Given the description of an element on the screen output the (x, y) to click on. 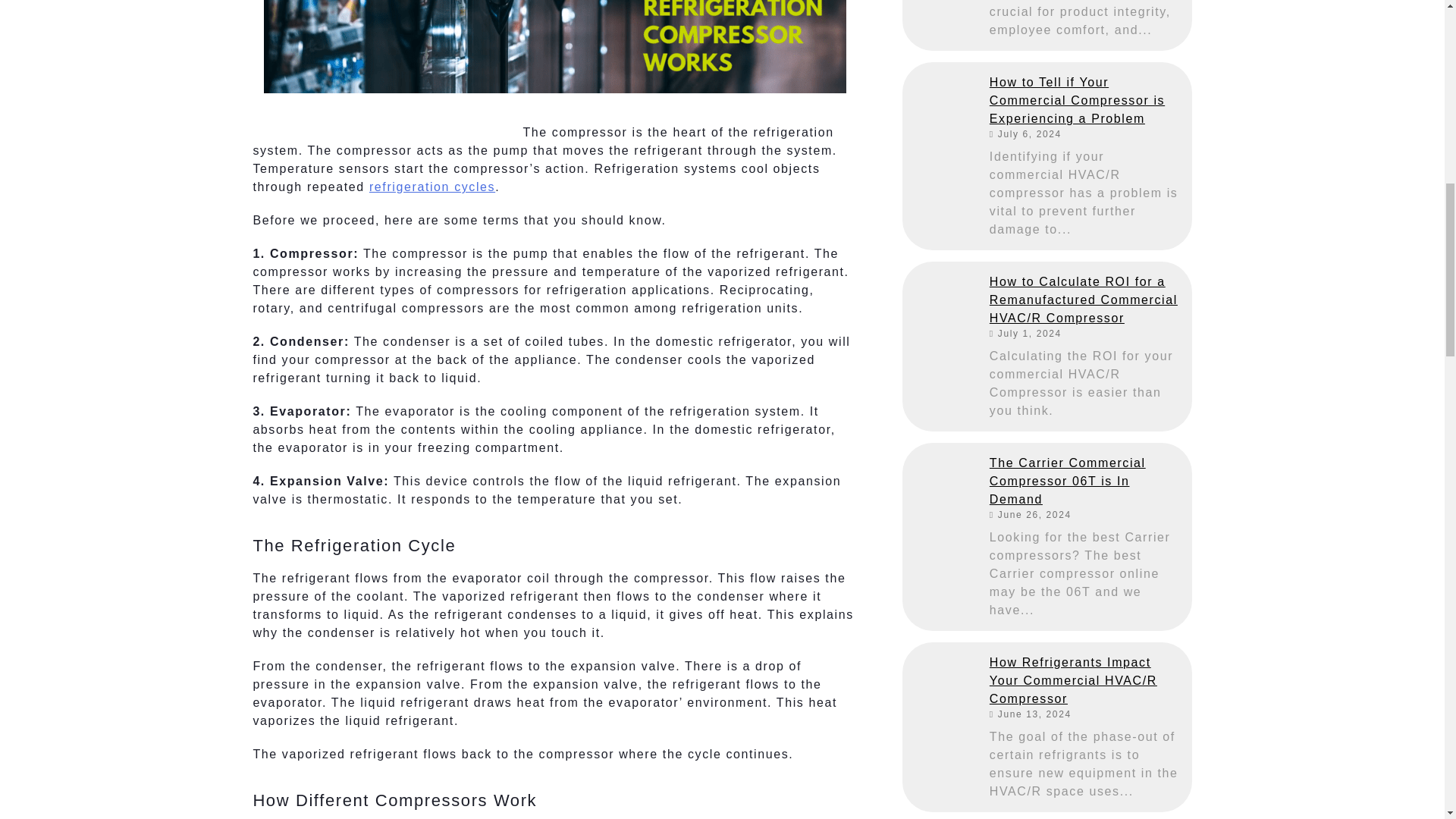
The Carrier Commercial Compressor 06T is In Demand (1085, 481)
The Carrier Commercial Compressor 06T is In Demand (940, 480)
